Given the description of an element on the screen output the (x, y) to click on. 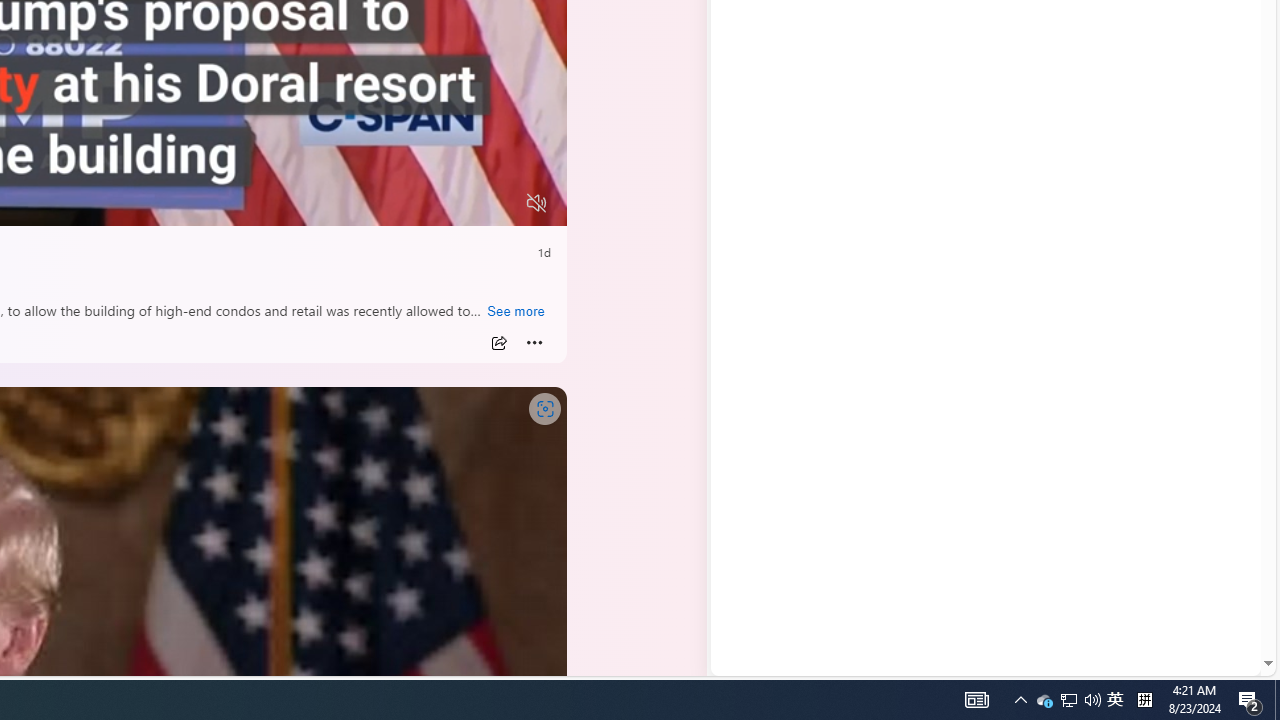
Share (498, 343)
